Given the description of an element on the screen output the (x, y) to click on. 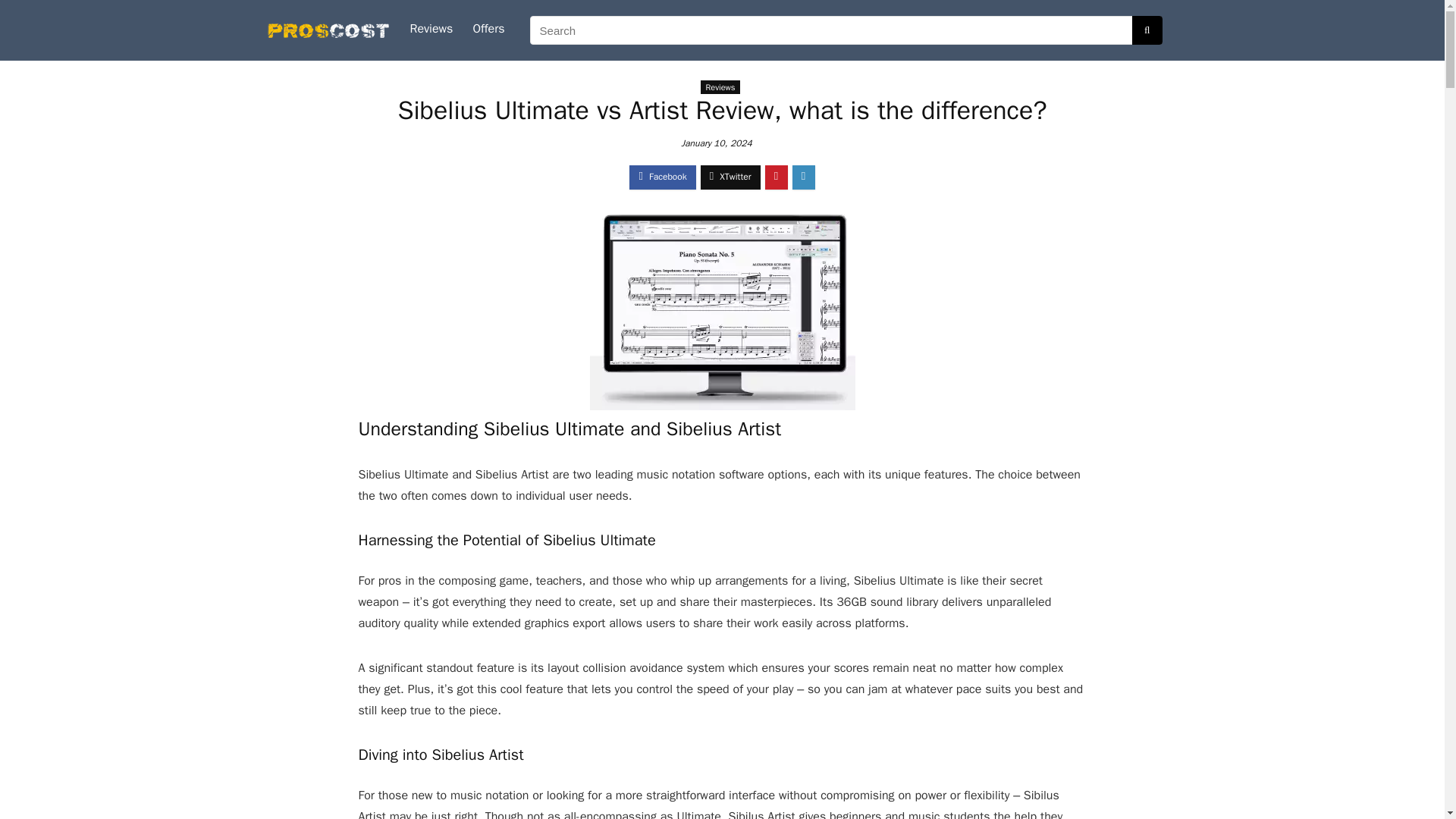
Reviews (431, 30)
Offers (488, 30)
Reviews (719, 87)
View all posts in Reviews (719, 87)
